Given the description of an element on the screen output the (x, y) to click on. 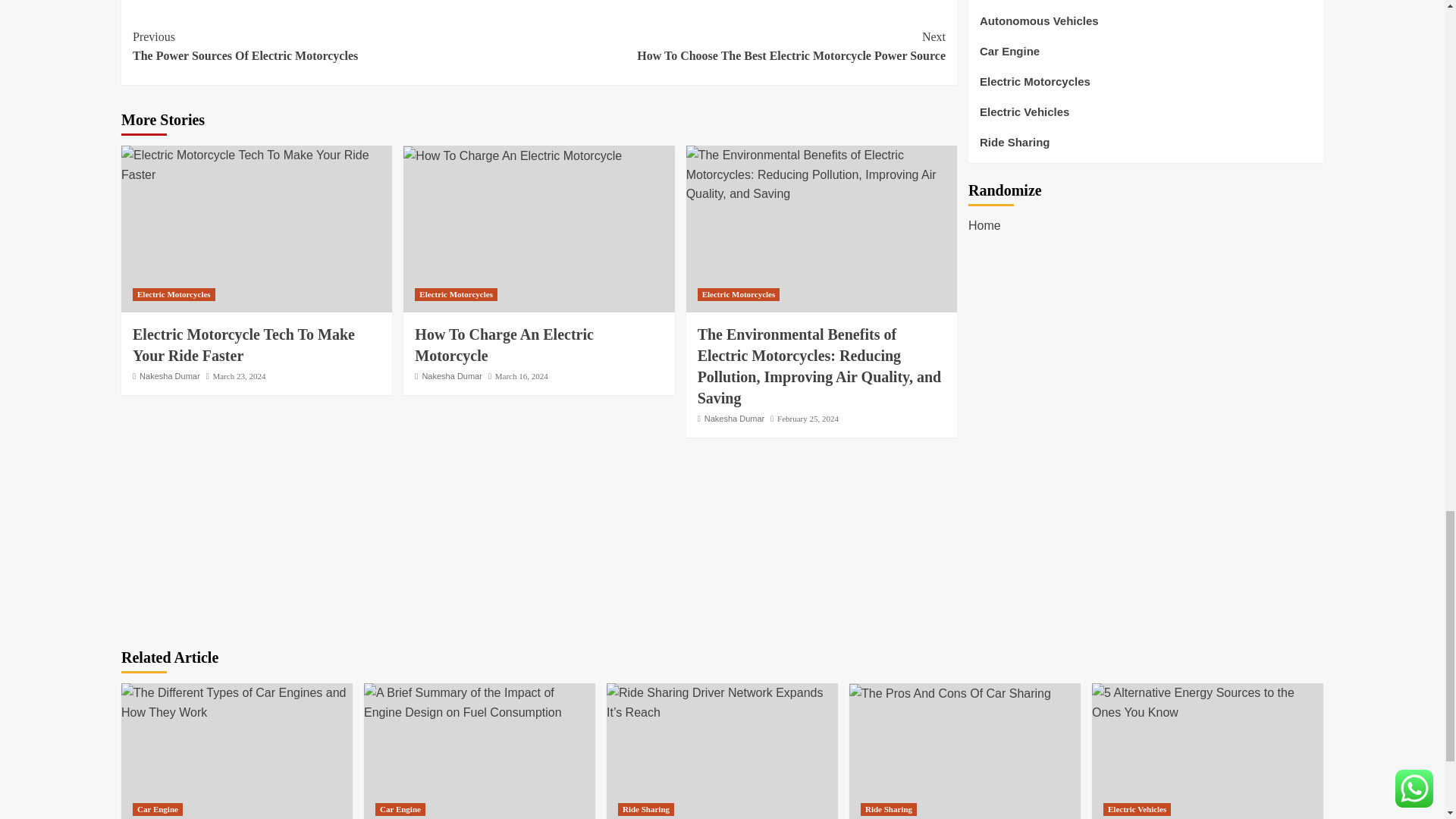
Electric Motorcycle Tech To Make Your Ride Faster (255, 164)
Electric Motorcycle Tech To Make Your Ride Faster (741, 46)
Nakesha Dumar (243, 344)
Electric Motorcycles (169, 375)
How To Charge An Electric Motorcycle (335, 46)
